Given the description of an element on the screen output the (x, y) to click on. 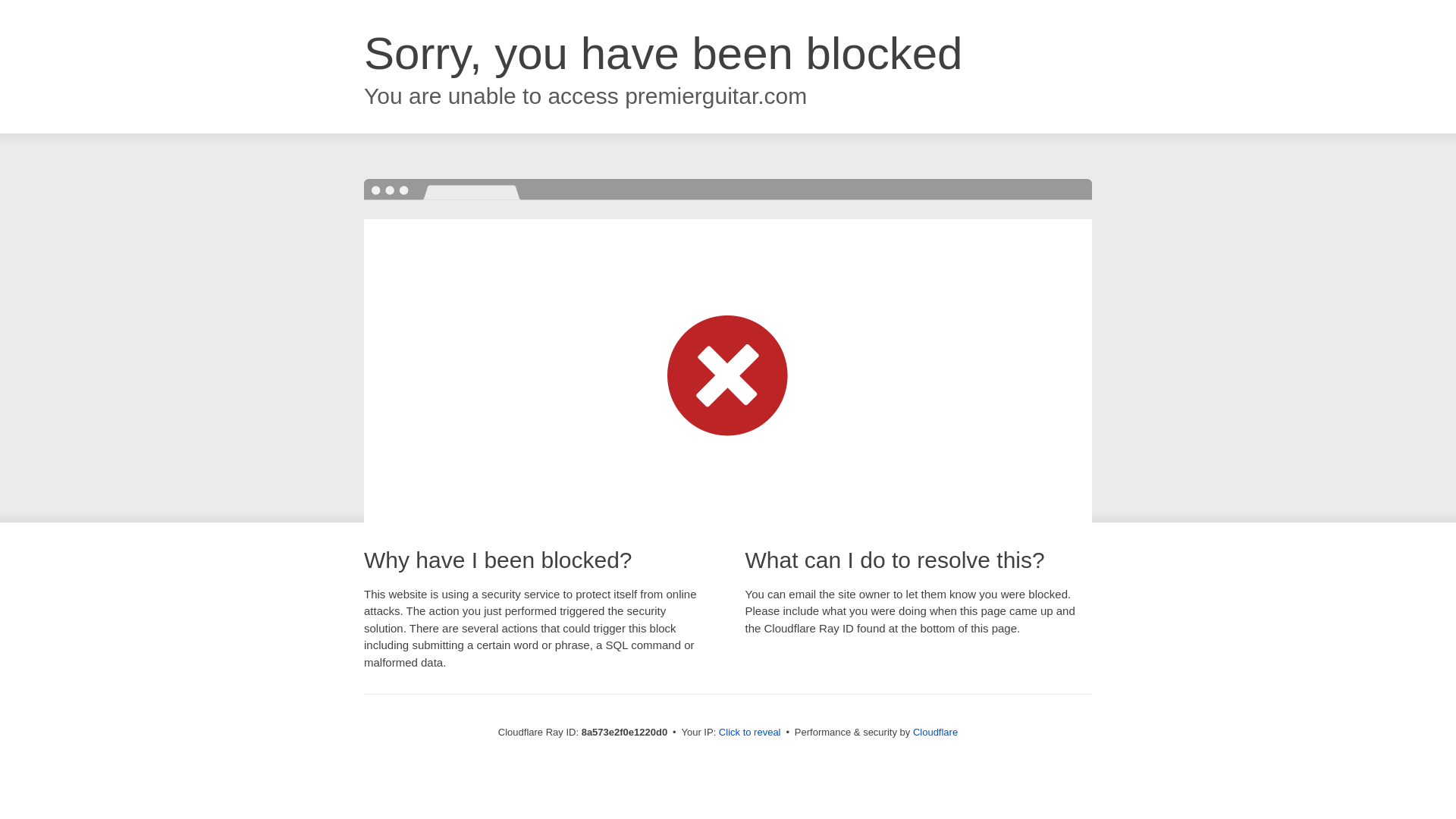
Click to reveal (749, 732)
Cloudflare (935, 731)
